Given the description of an element on the screen output the (x, y) to click on. 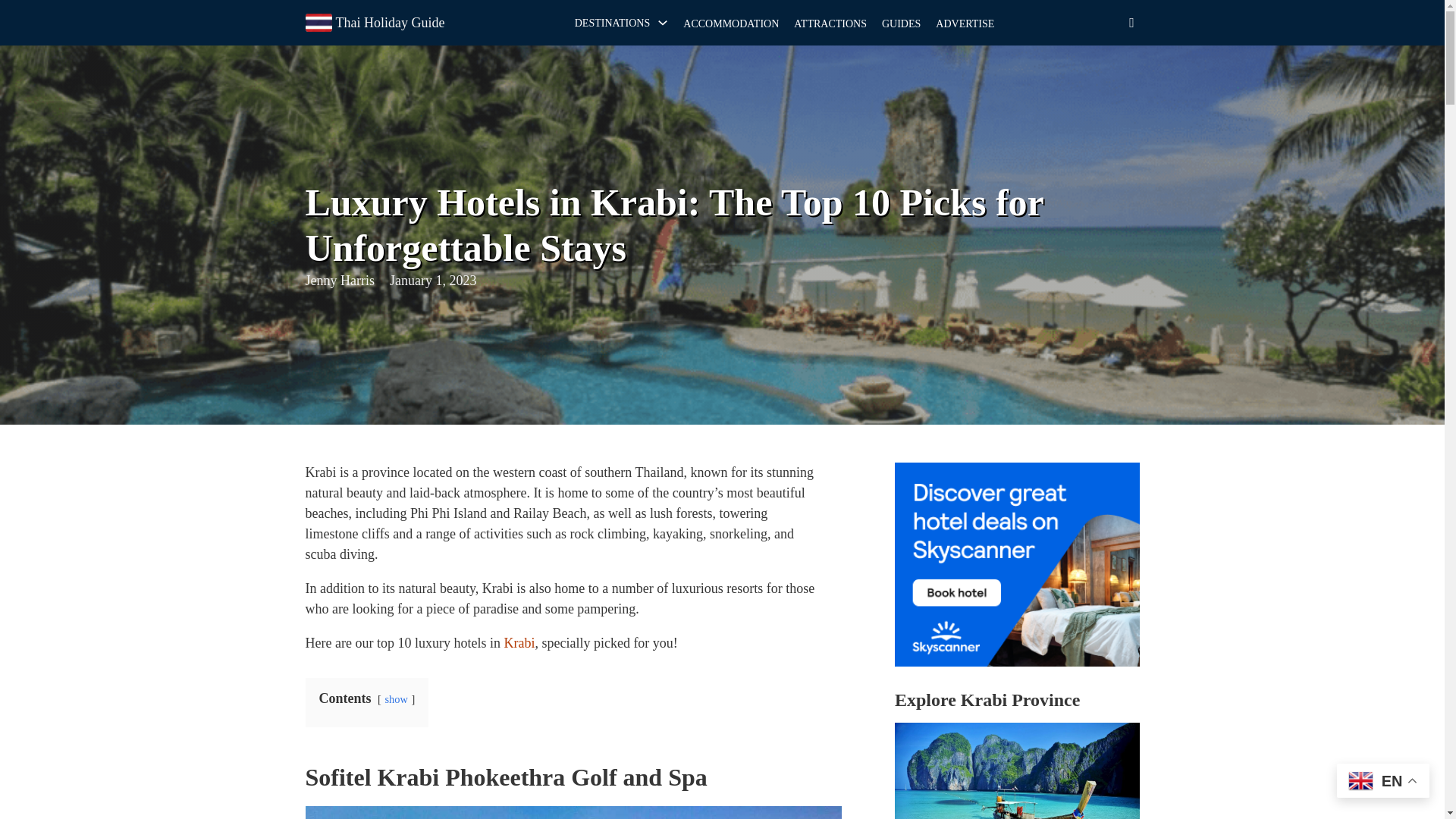
GUIDES (901, 23)
ACCOMMODATION (730, 23)
Thai Holiday Guide (389, 22)
Luxury Hotels In Krabi (572, 812)
ATTRACTIONS (829, 23)
ADVERTISE (965, 23)
Krabi (518, 642)
Krabi (518, 642)
